Given the description of an element on the screen output the (x, y) to click on. 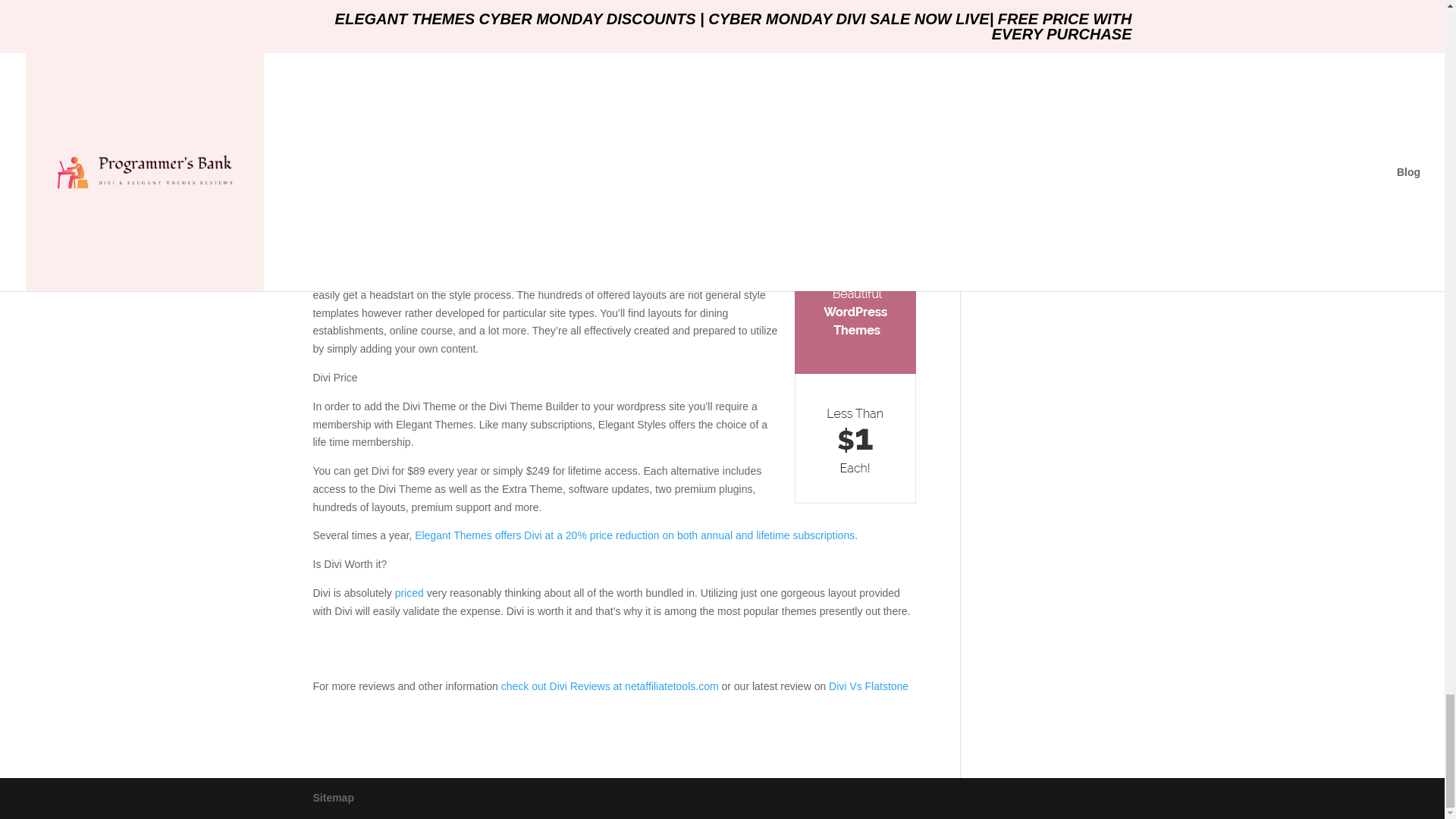
Sitemap (333, 797)
Divi Vs Flatsome (866, 686)
Divi Vs Flatstone (866, 686)
priced (408, 592)
Divi Page Builder (374, 223)
check out Divi Reviews at netaffiliatetools.com (609, 686)
